Given the description of an element on the screen output the (x, y) to click on. 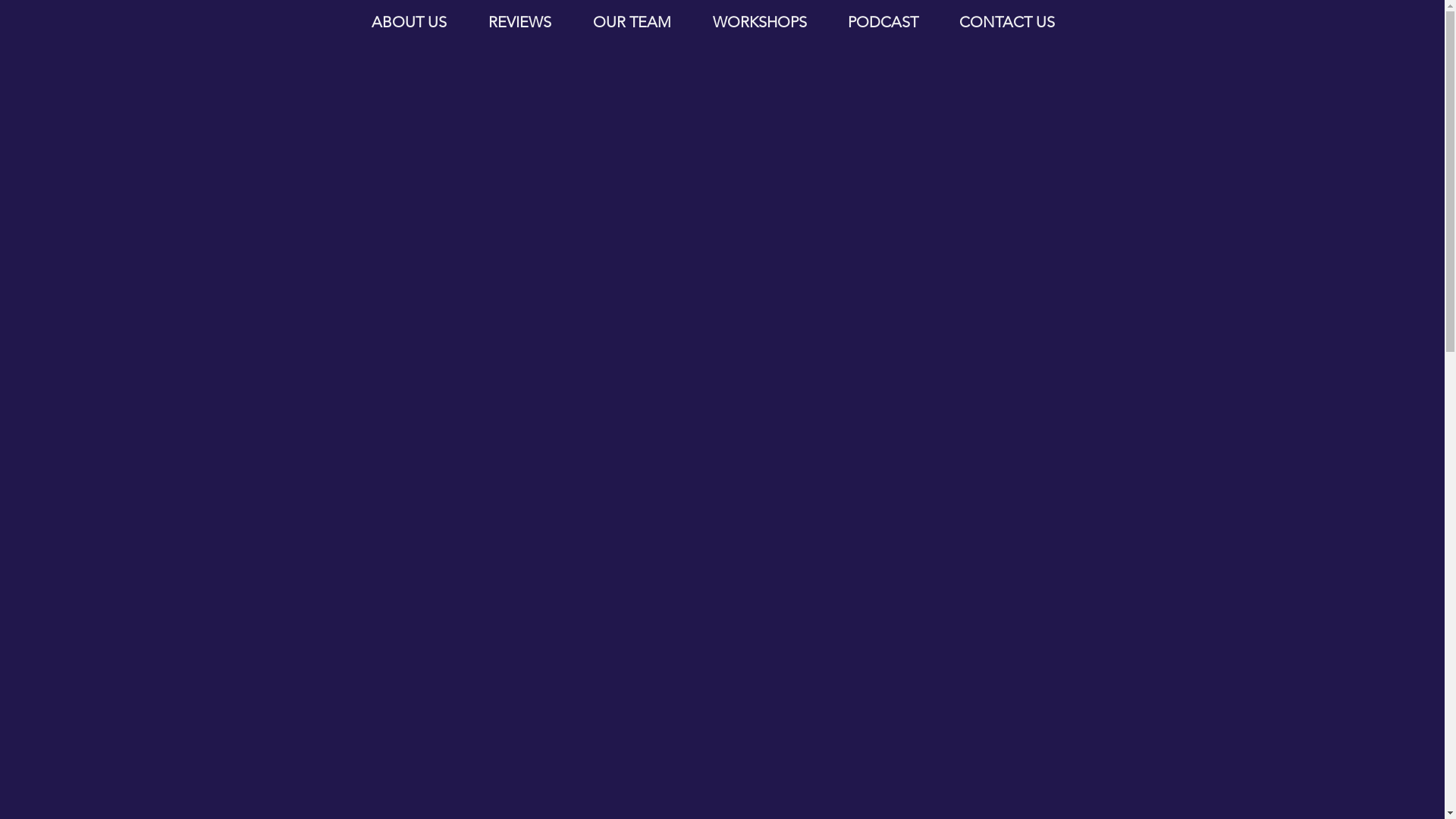
ABOUT US Element type: text (408, 21)
OUR TEAM Element type: text (631, 21)
PODCAST Element type: text (882, 21)
REVIEWS Element type: text (519, 21)
WORKSHOPS Element type: text (758, 21)
CONTACT US Element type: text (1006, 21)
